Given the description of an element on the screen output the (x, y) to click on. 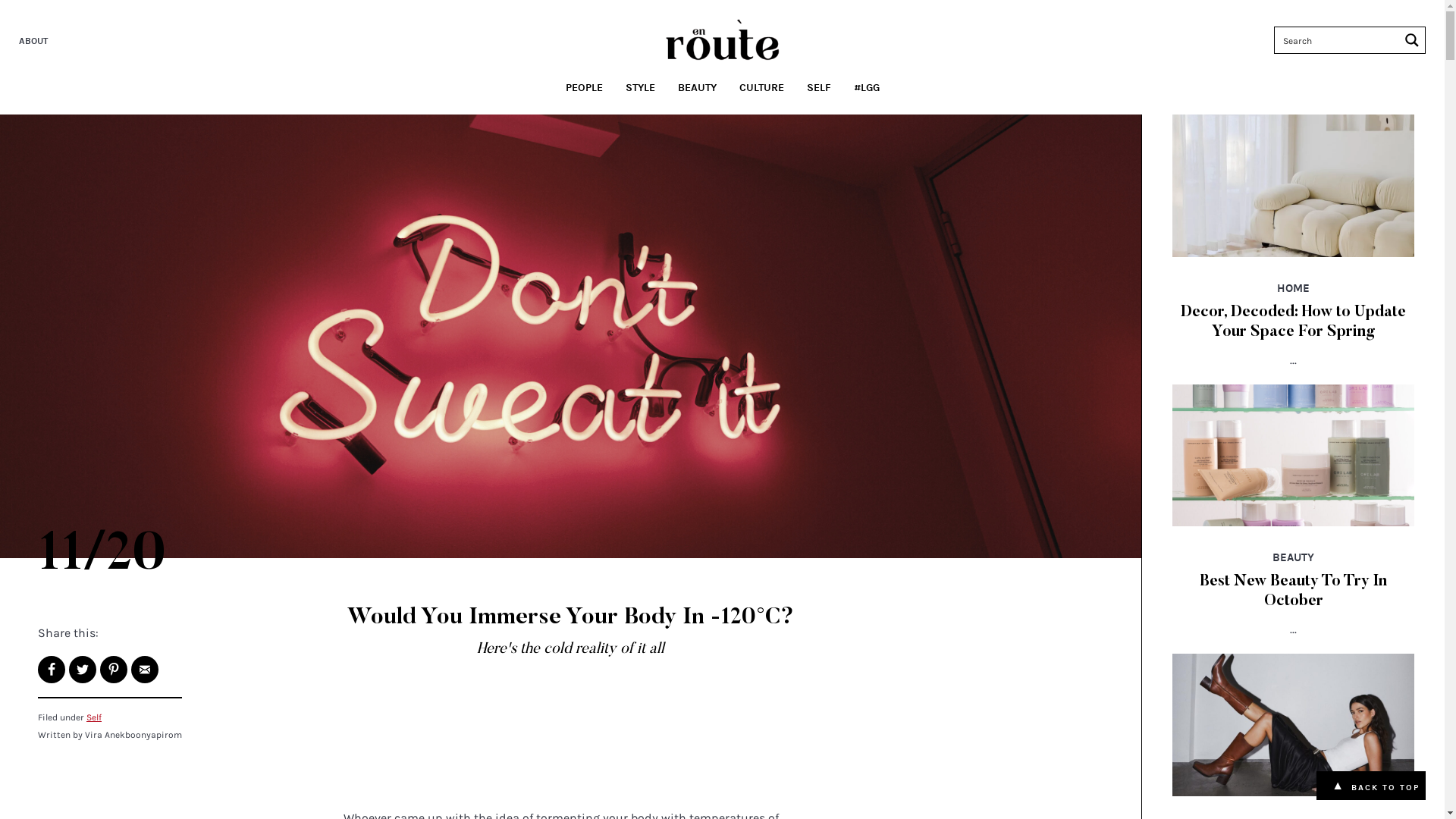
Best New Beauty To Try In October Element type: hover (1293, 453)
Share on Twitter Element type: hover (82, 669)
PEOPLE Element type: text (583, 87)
Best New Beauty To Try In October Element type: text (1292, 591)
Decor, Decoded: How to Update Your Space For Spring Element type: hover (1293, 184)
Self Element type: text (93, 717)
#LGG Element type: text (865, 87)
STYLE Element type: text (640, 87)
CULTURE Element type: text (761, 87)
BACK TO TOP Element type: text (1385, 787)
Boots to buy this Winter Element type: hover (1293, 723)
Share on Pinterest Element type: hover (113, 669)
logo Element type: hover (722, 39)
Share on Facebook Element type: hover (51, 669)
ABOUT Element type: text (34, 40)
Decor, Decoded: How to Update Your Space For Spring Element type: text (1292, 321)
BEAUTY Element type: text (696, 87)
Share on Email Element type: hover (144, 669)
SELF Element type: text (817, 87)
